Given the description of an element on the screen output the (x, y) to click on. 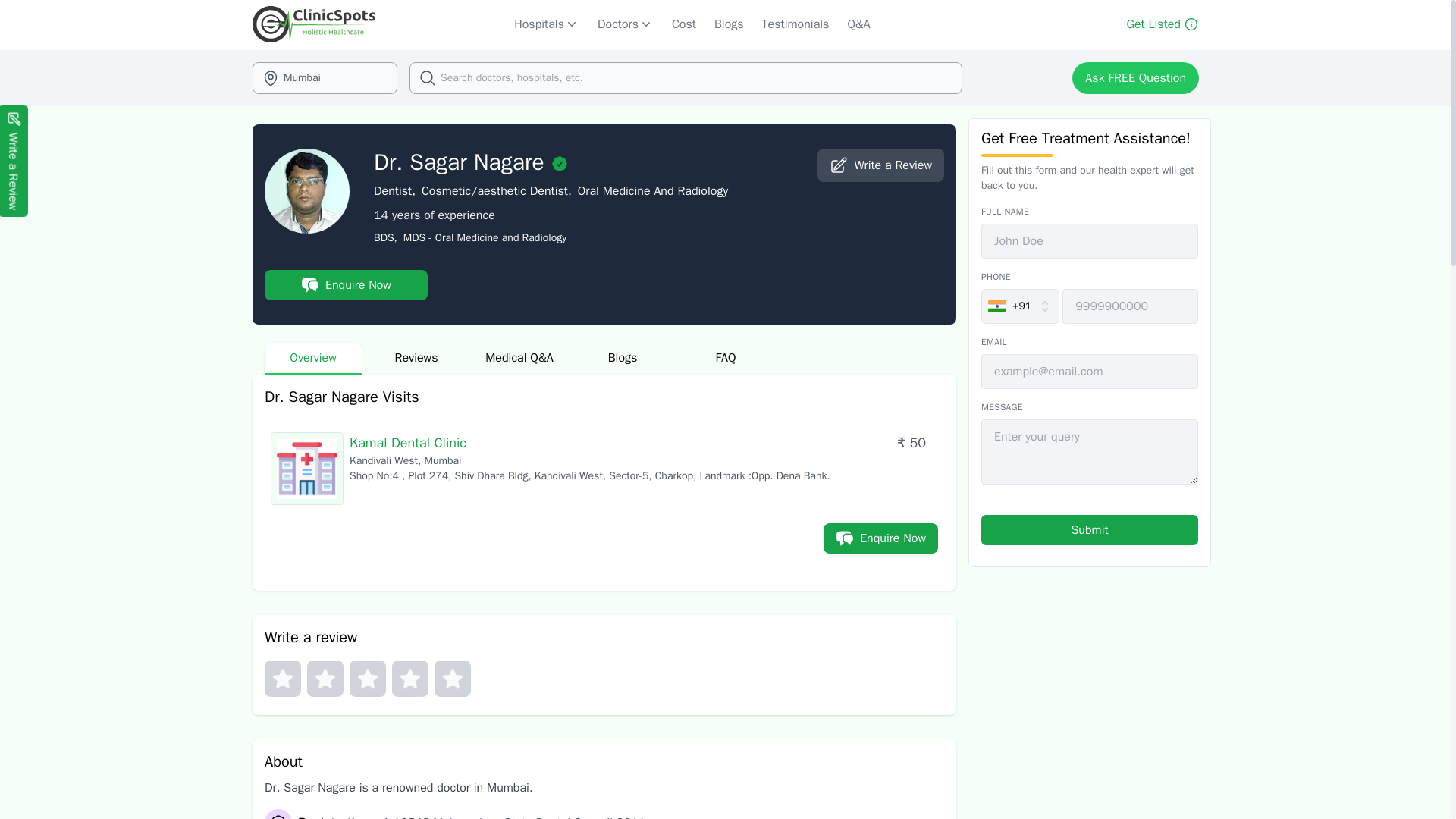
Enquire Now (346, 285)
Mumbai (324, 78)
Reviews (416, 358)
Ask FREE Question (1134, 78)
Testimonials (795, 24)
Write a Review (879, 164)
Overview (312, 358)
Get Listed (1161, 24)
Mumbai (324, 78)
